Given the description of an element on the screen output the (x, y) to click on. 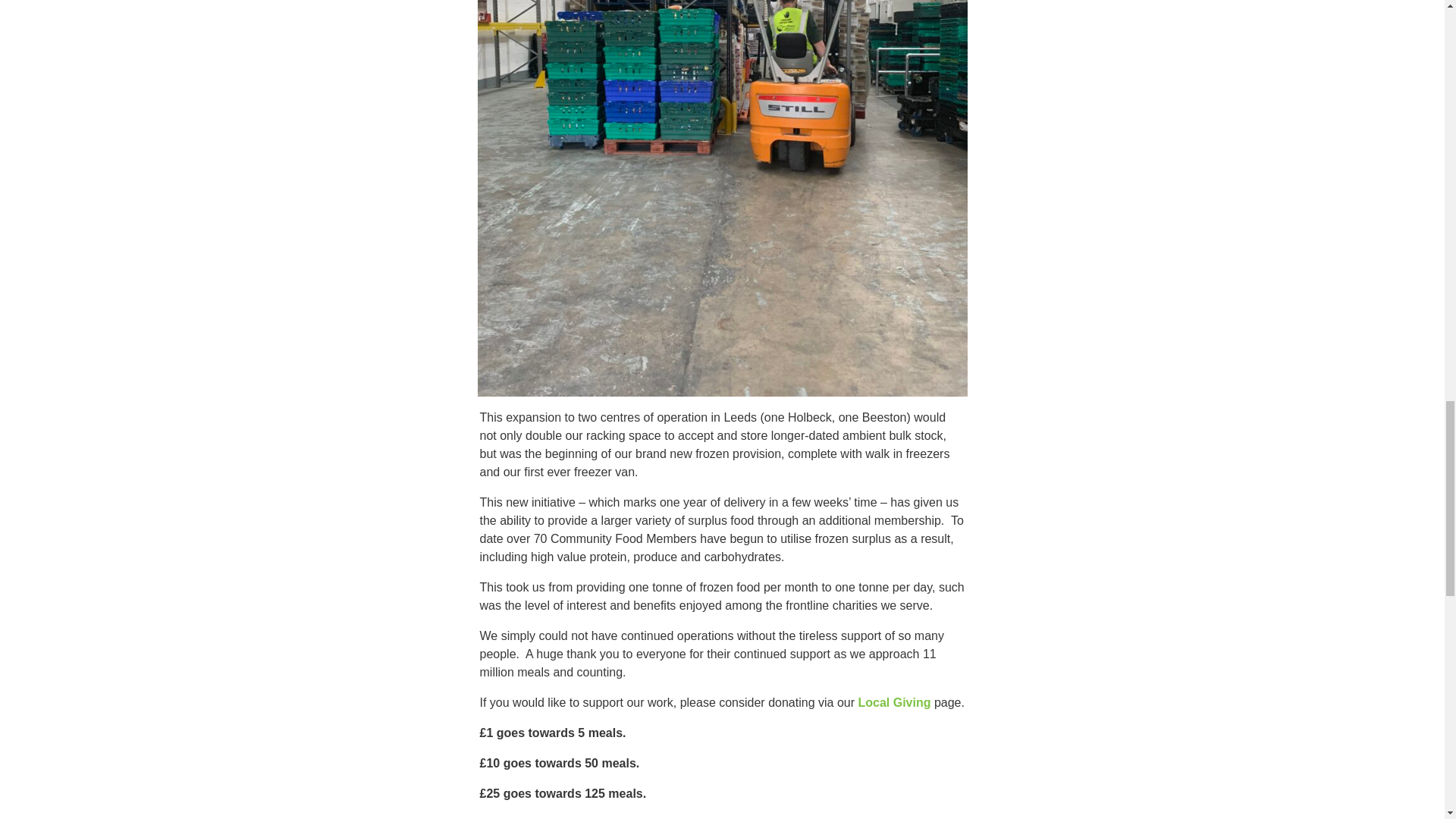
here (579, 818)
Local Giving (893, 702)
